Given the description of an element on the screen output the (x, y) to click on. 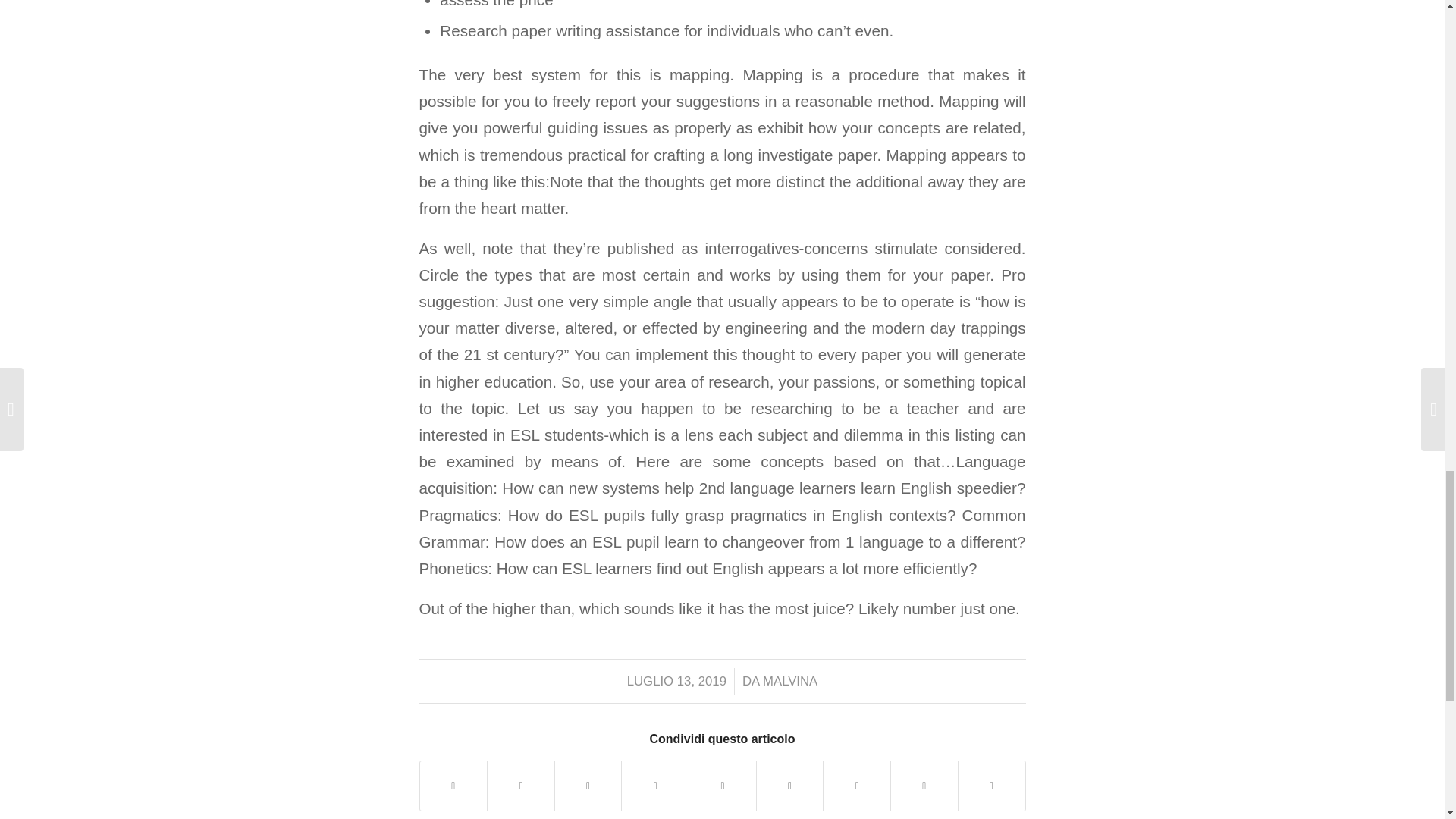
Articoli scritti da Malvina (789, 681)
MALVINA (789, 681)
